Given the description of an element on the screen output the (x, y) to click on. 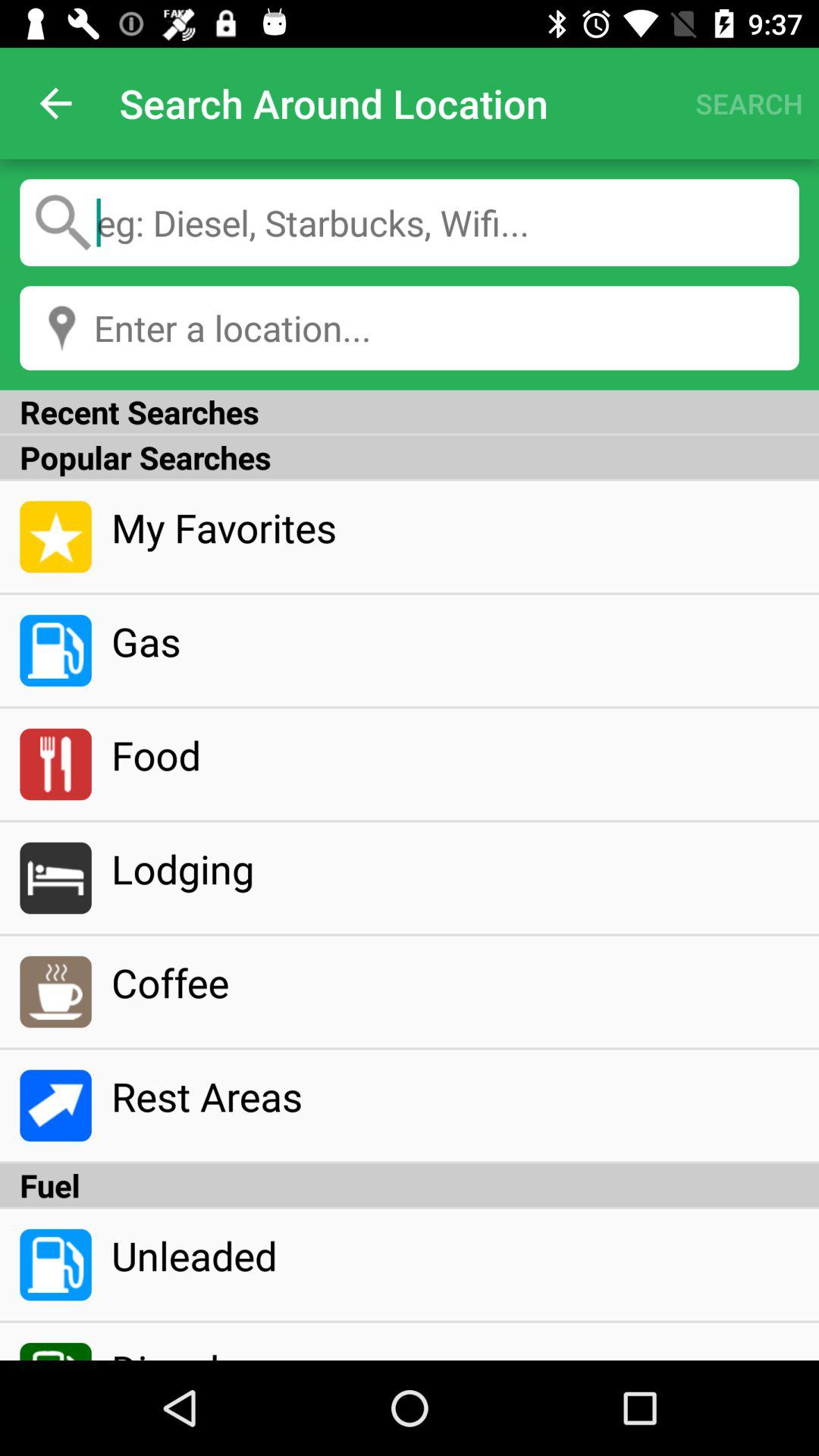
press the app next to the search around location icon (55, 103)
